Given the description of an element on the screen output the (x, y) to click on. 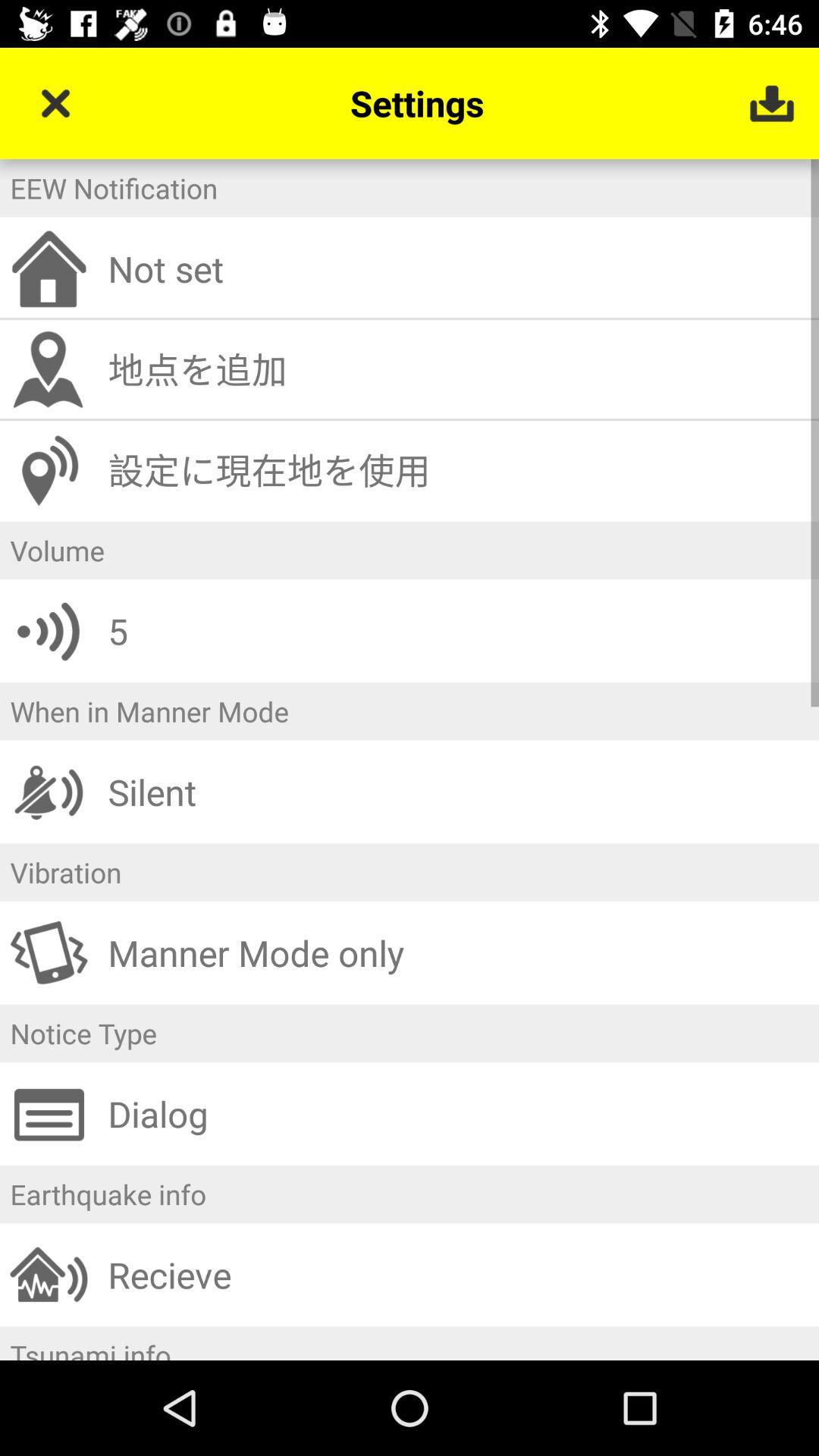
turn off volume (409, 550)
